Given the description of an element on the screen output the (x, y) to click on. 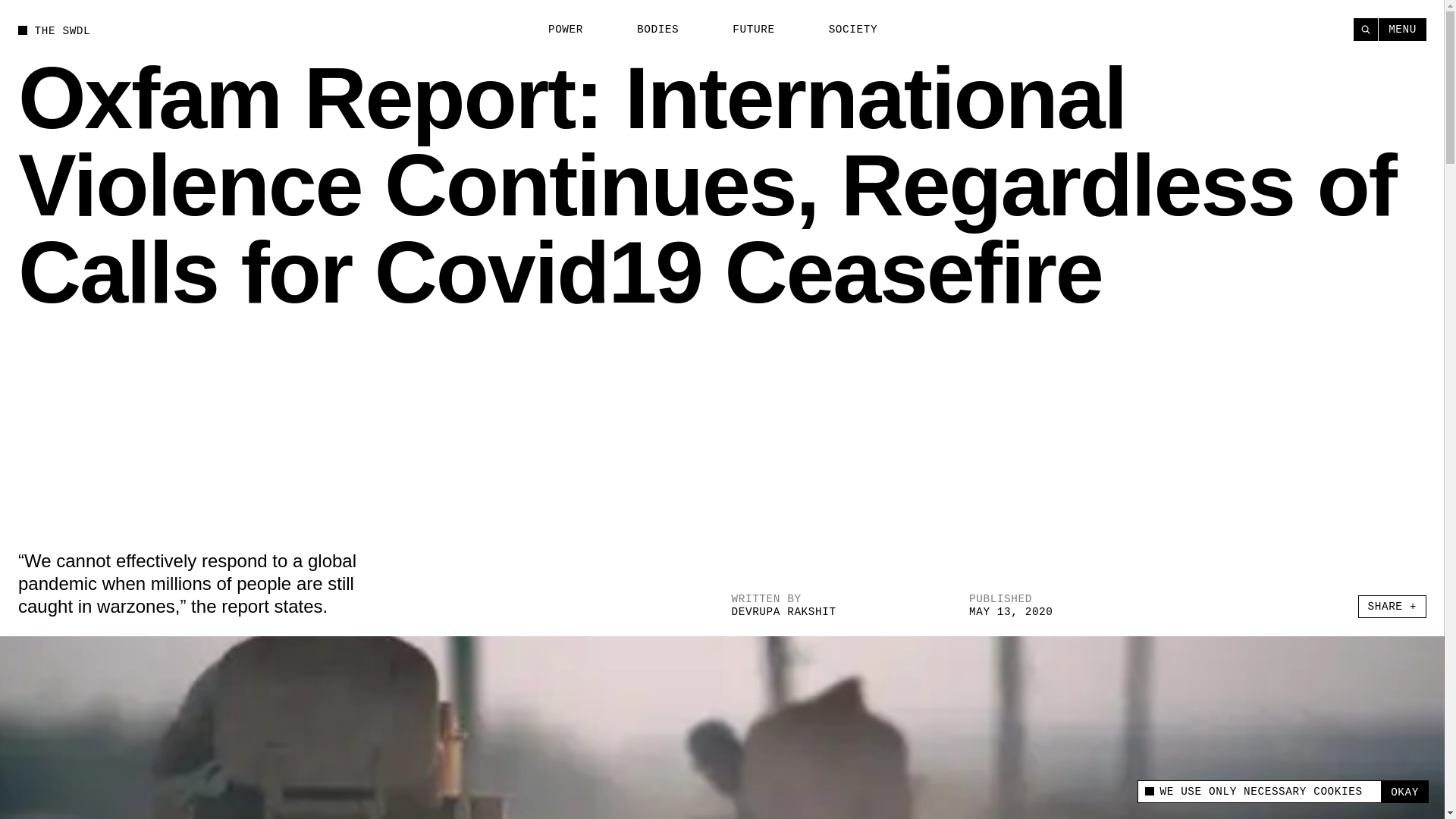
DEVRUPA RAKSHIT (782, 612)
MENU (1402, 29)
SOCIETY (843, 29)
POWER (557, 29)
FUTURE (744, 29)
WE USE ONLY NECESSARY COOKIES (1259, 791)
OKAY (1404, 791)
BODIES (649, 29)
THE SWDL (53, 29)
